Given the description of an element on the screen output the (x, y) to click on. 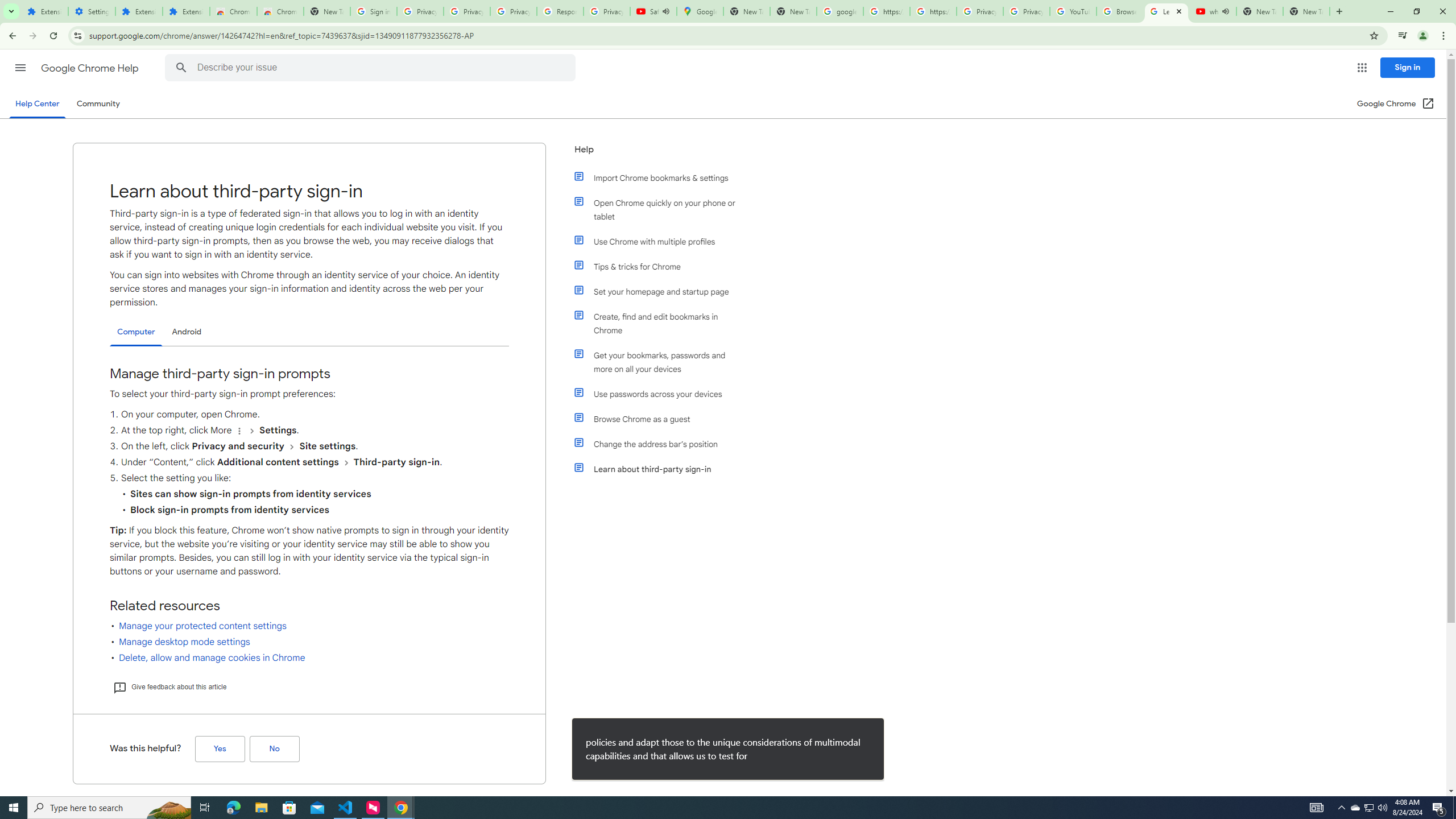
YouTube (1073, 11)
Google Chrome (Open in a new window) (1395, 103)
Extensions (44, 11)
Get your bookmarks, passwords and more on all your devices (661, 362)
and then (345, 462)
Control your music, videos, and more (1402, 35)
No (Was this helpful?) (273, 749)
Chrome Web Store (233, 11)
New Tab (326, 11)
Help (656, 153)
Google Maps (699, 11)
Extensions (138, 11)
